Given the description of an element on the screen output the (x, y) to click on. 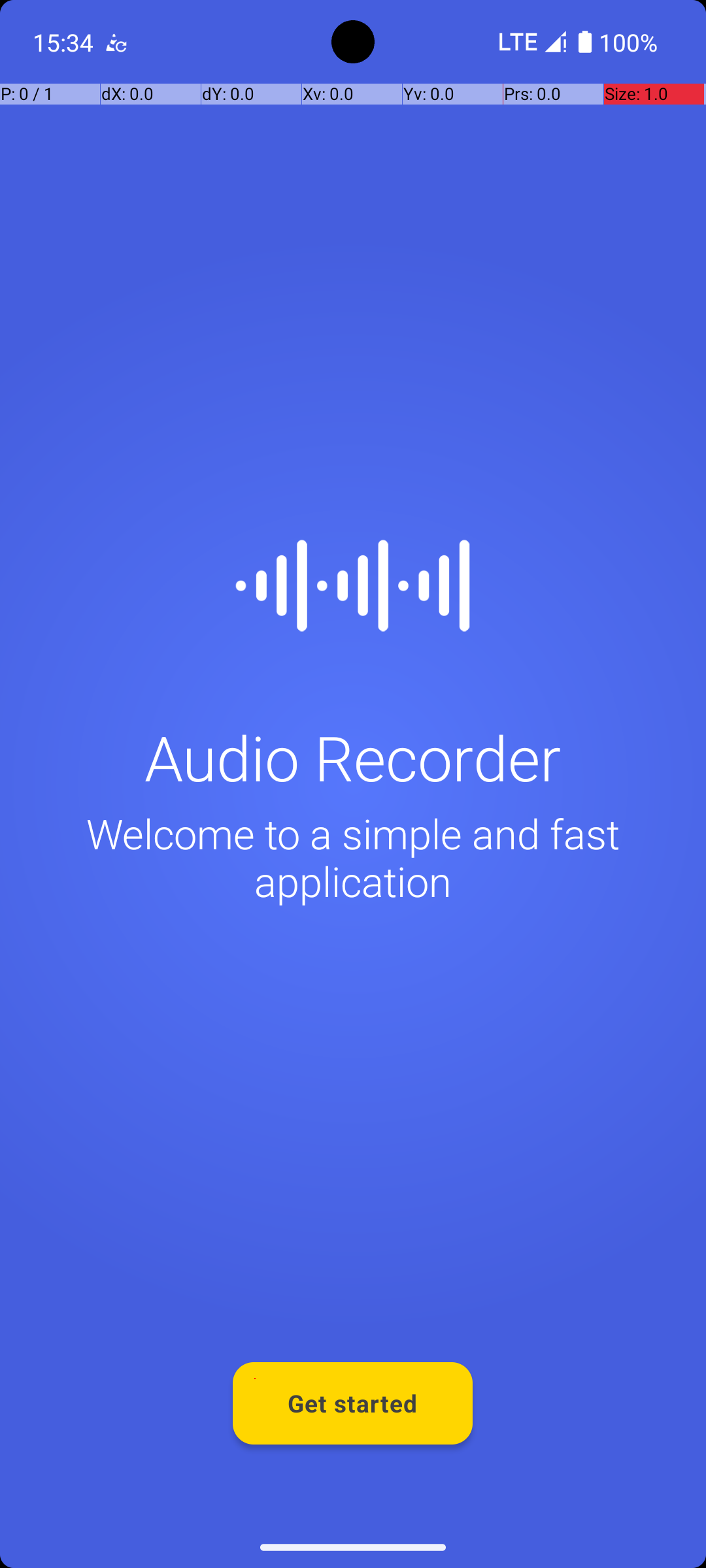
VLC notification: Scanning for media files Element type: android.widget.ImageView (115, 41)
